Given the description of an element on the screen output the (x, y) to click on. 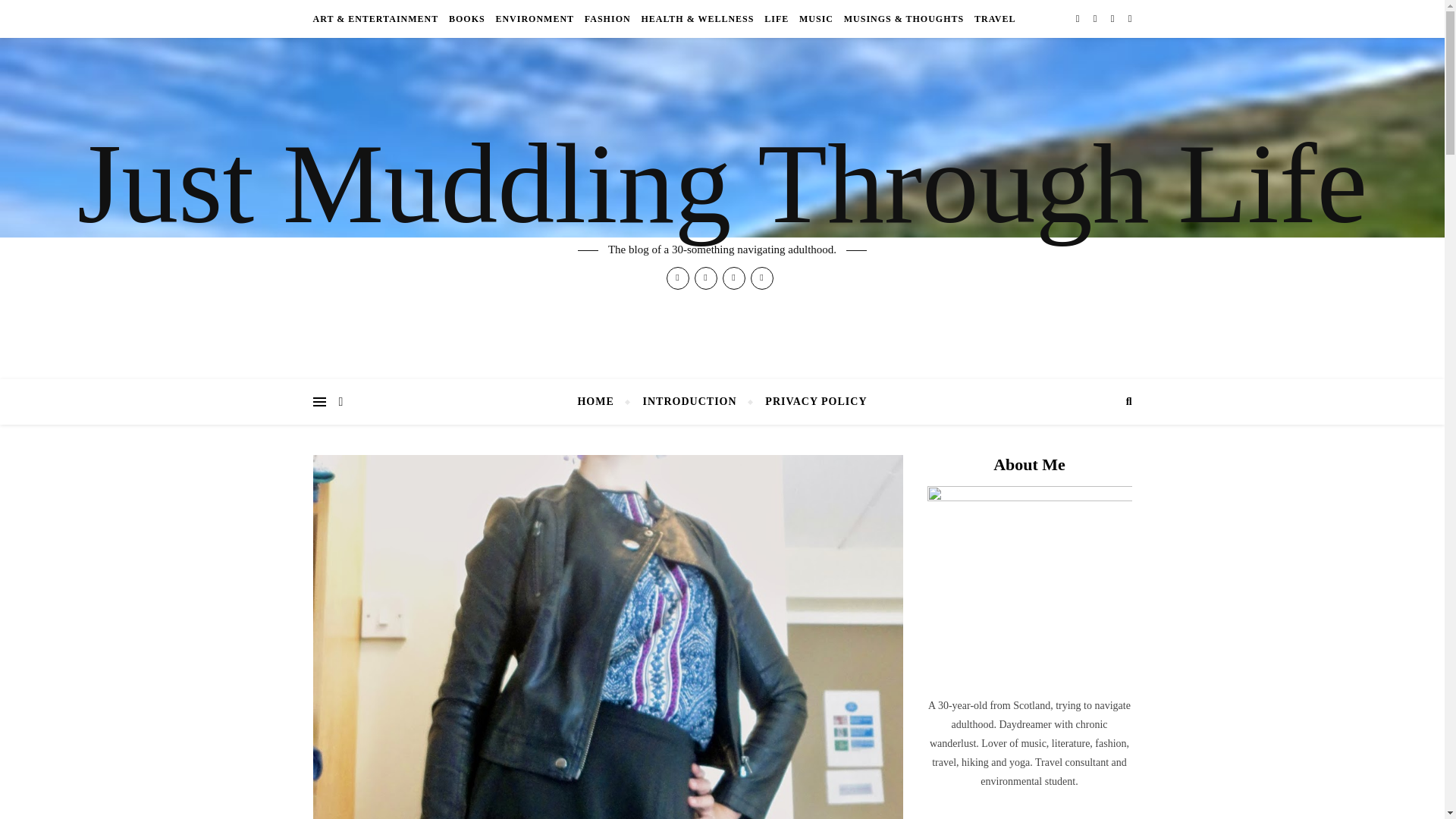
PRIVACY POLICY (809, 402)
INTRODUCTION (689, 402)
ENVIRONMENT (535, 18)
BOOKS (467, 18)
MUSIC (815, 18)
HOME (601, 402)
TRAVEL (992, 18)
FASHION (607, 18)
